Given the description of an element on the screen output the (x, y) to click on. 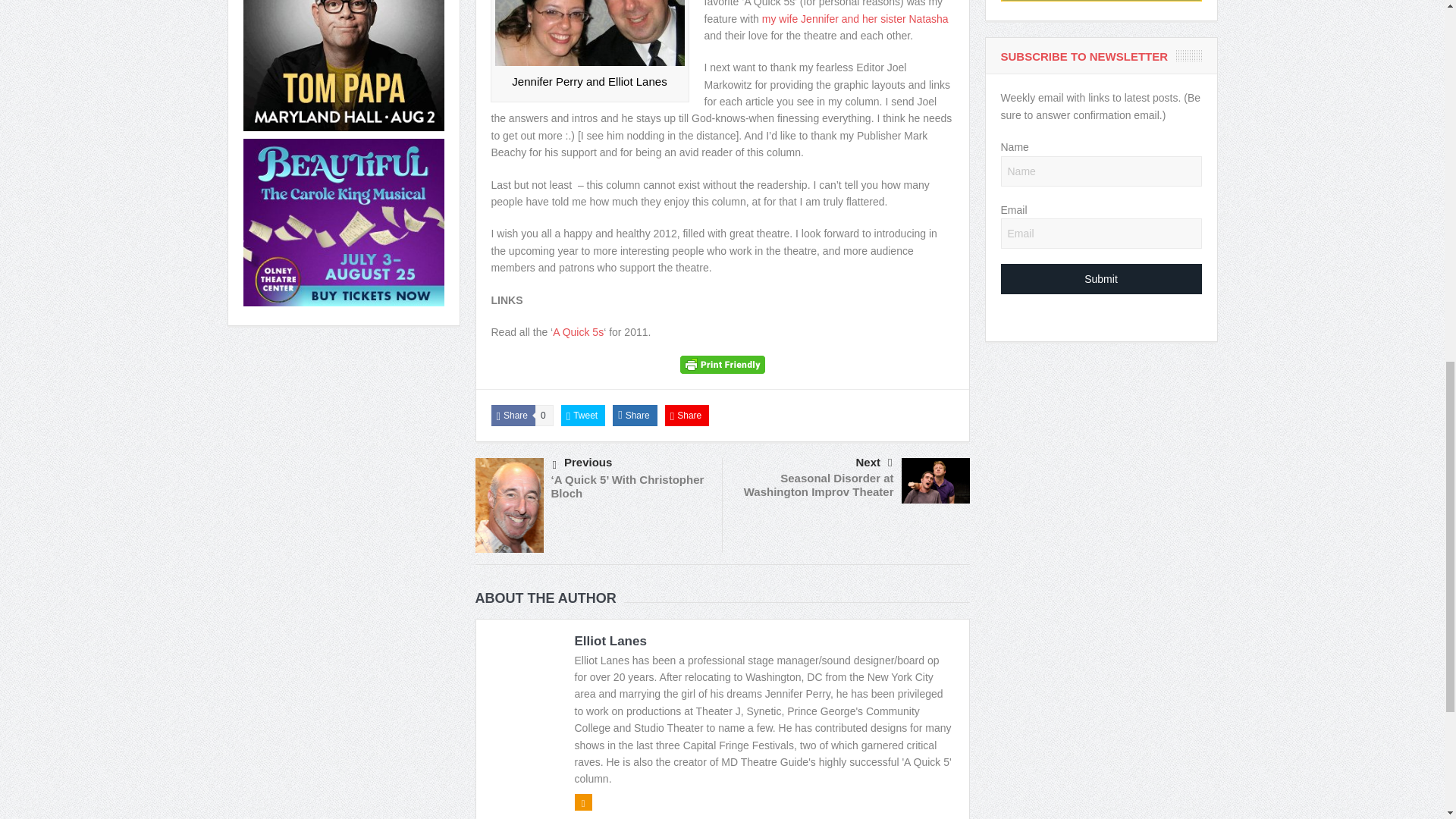
Submit (1101, 278)
